Given the description of an element on the screen output the (x, y) to click on. 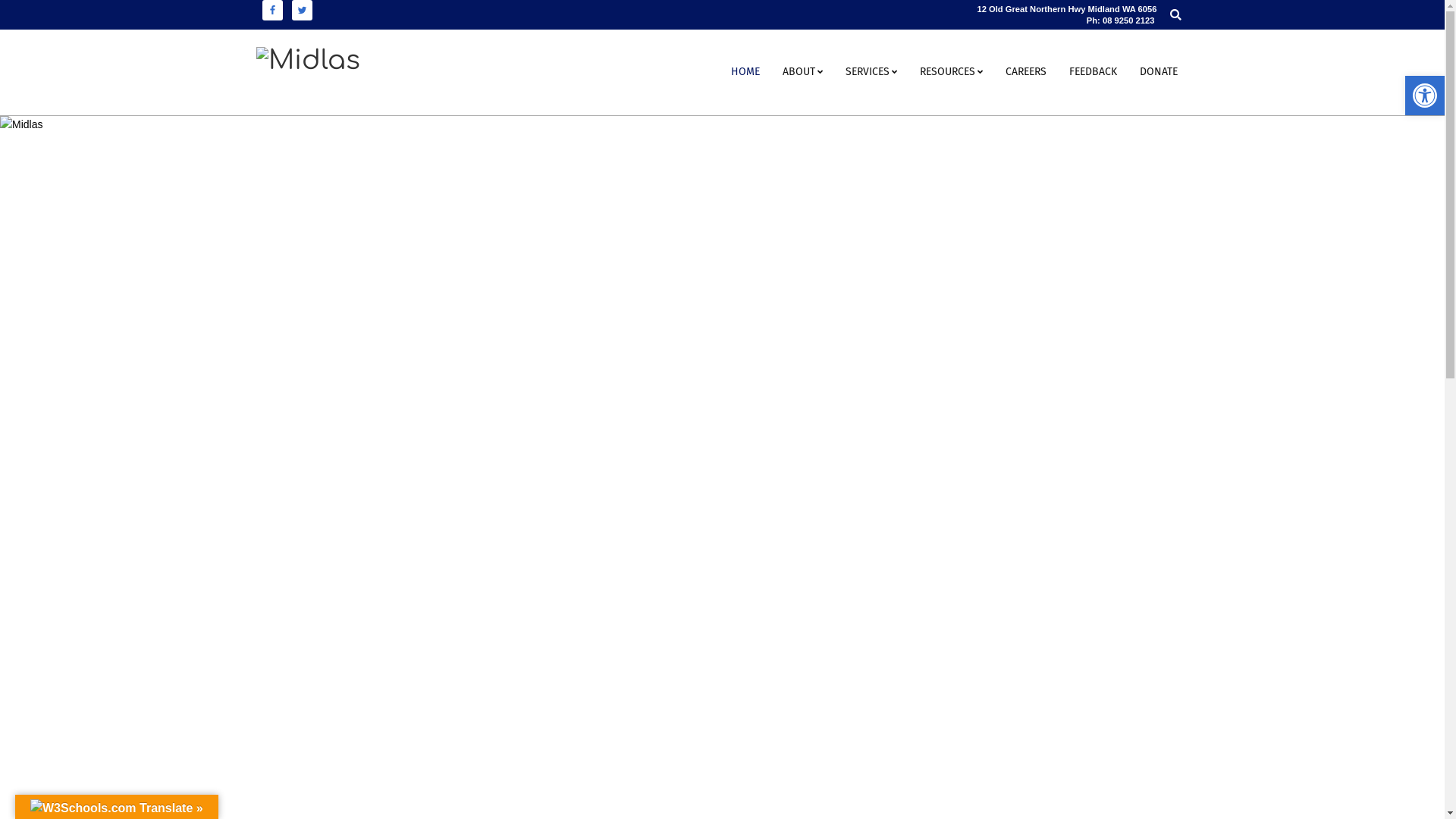
ABOUT Element type: text (801, 72)
DONATE Element type: text (1158, 72)
Open toolbar
Accessibility Tools Element type: text (1424, 95)
RESOURCES Element type: text (951, 72)
HOME Element type: text (744, 72)
Twitter Element type: text (301, 10)
Facebook Element type: text (272, 10)
CAREERS Element type: text (1025, 72)
SERVICES Element type: text (871, 72)
FEEDBACK Element type: text (1092, 72)
